Given the description of an element on the screen output the (x, y) to click on. 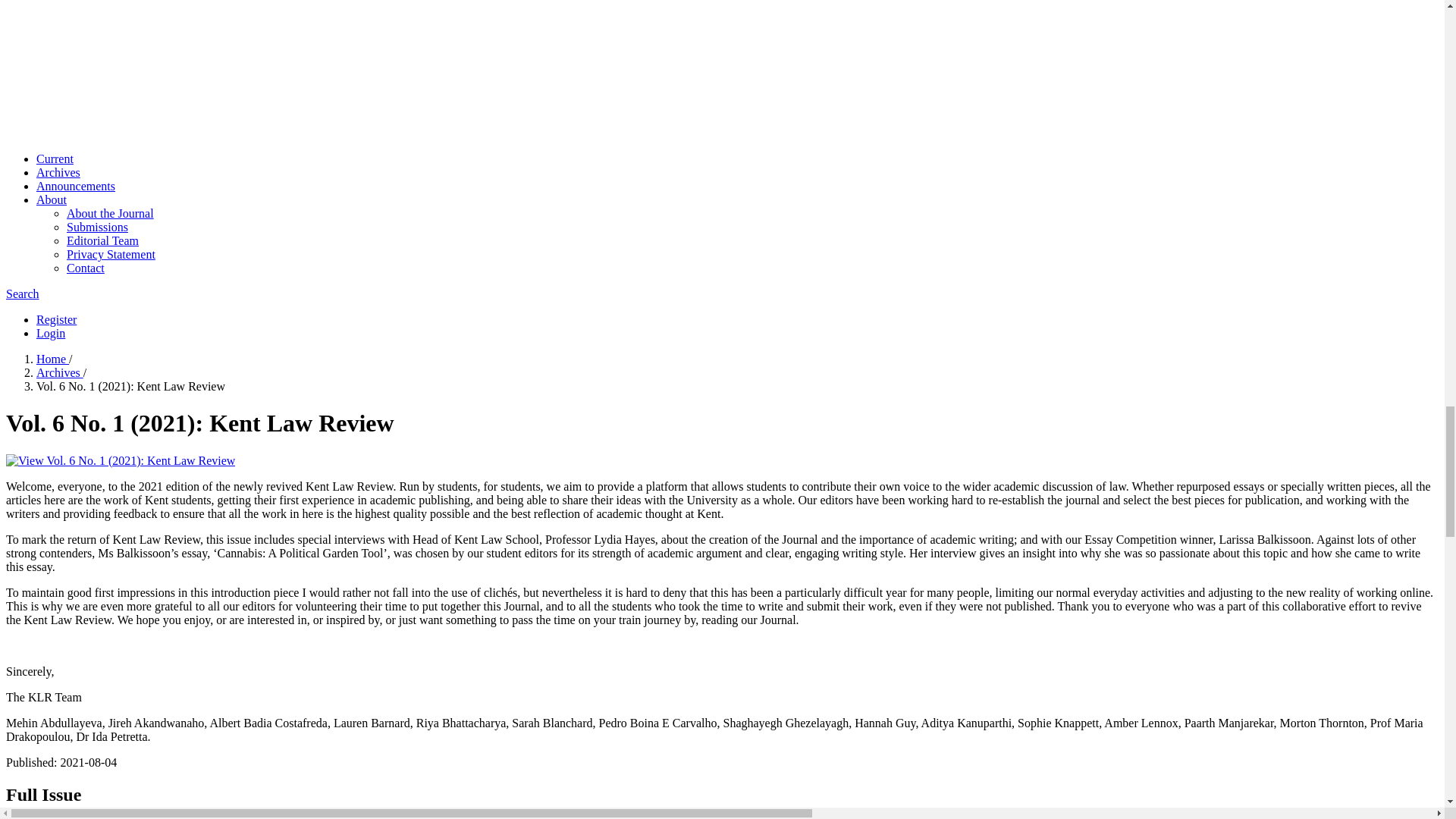
Privacy Statement (110, 254)
About the Journal (110, 213)
Contact (85, 267)
Search (22, 293)
Login (50, 332)
Announcements (75, 185)
Archives (59, 372)
Submissions (97, 226)
Archives (58, 172)
Home (52, 358)
